Given the description of an element on the screen output the (x, y) to click on. 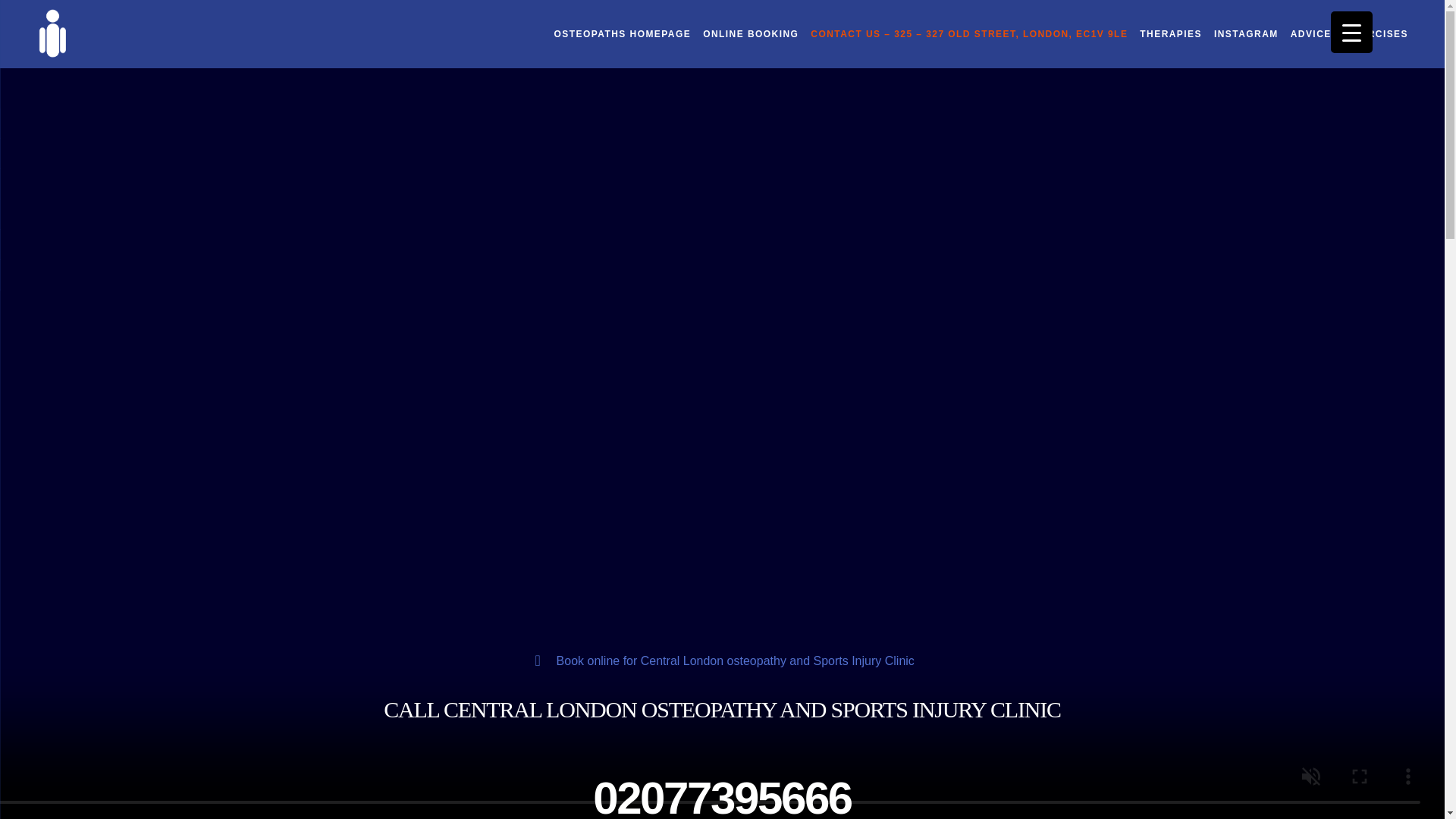
THERAPIES (1171, 33)
OSTEOPATHS HOMEPAGE (622, 33)
INSTAGRAM (1246, 33)
ONLINE BOOKING (751, 33)
